Given the description of an element on the screen output the (x, y) to click on. 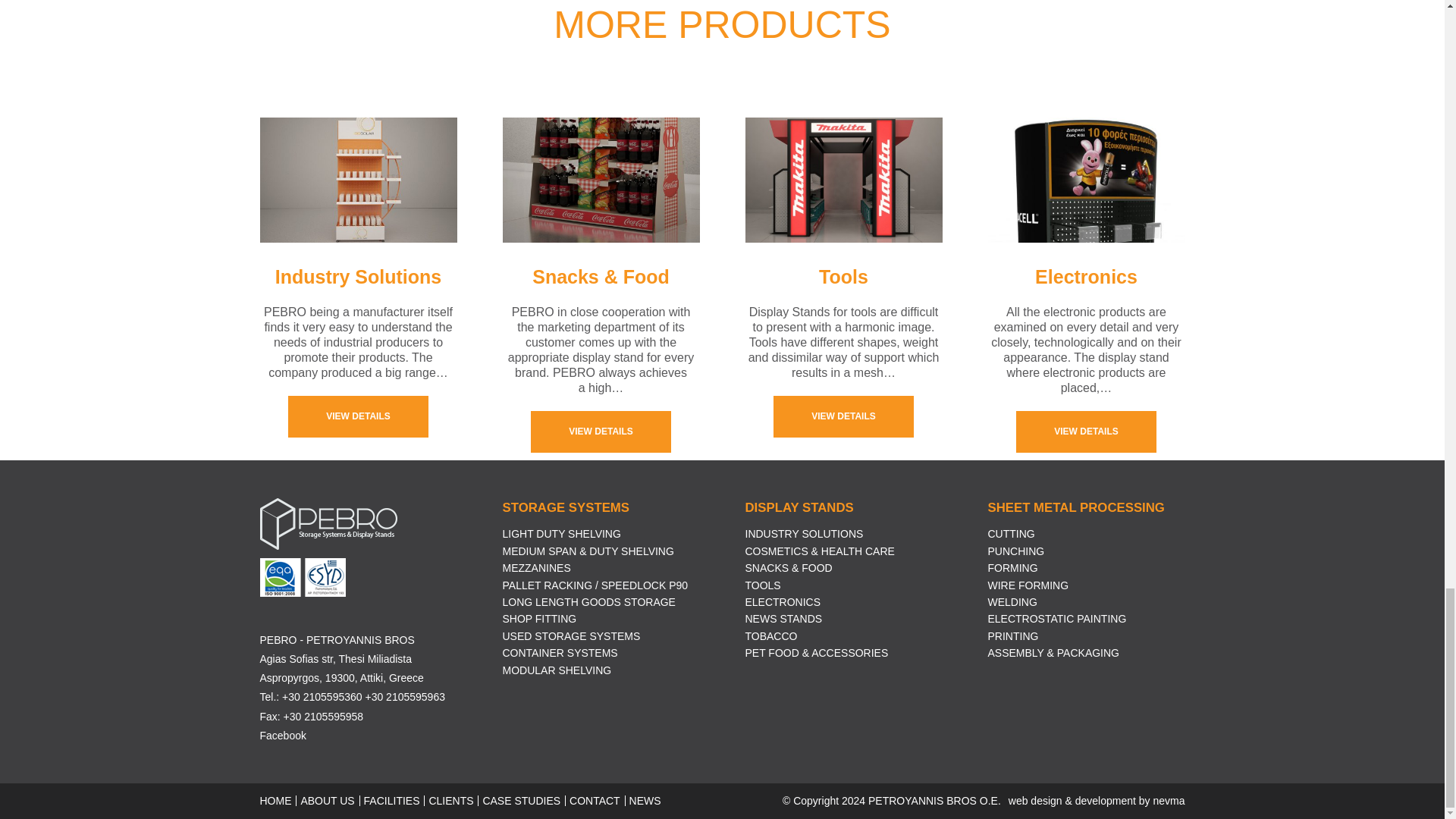
Industry Solutions (358, 416)
Electronics (1086, 431)
Tools (843, 179)
Nevma (1097, 800)
Industry Solutions (358, 179)
Electronics (1086, 179)
Tools (842, 416)
